Given the description of an element on the screen output the (x, y) to click on. 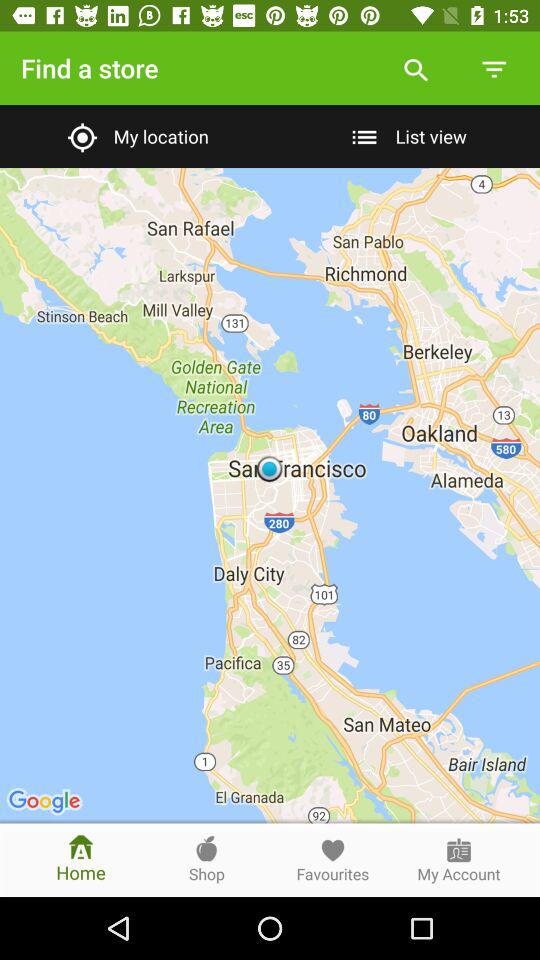
press item to the left of list view icon (134, 136)
